Given the description of an element on the screen output the (x, y) to click on. 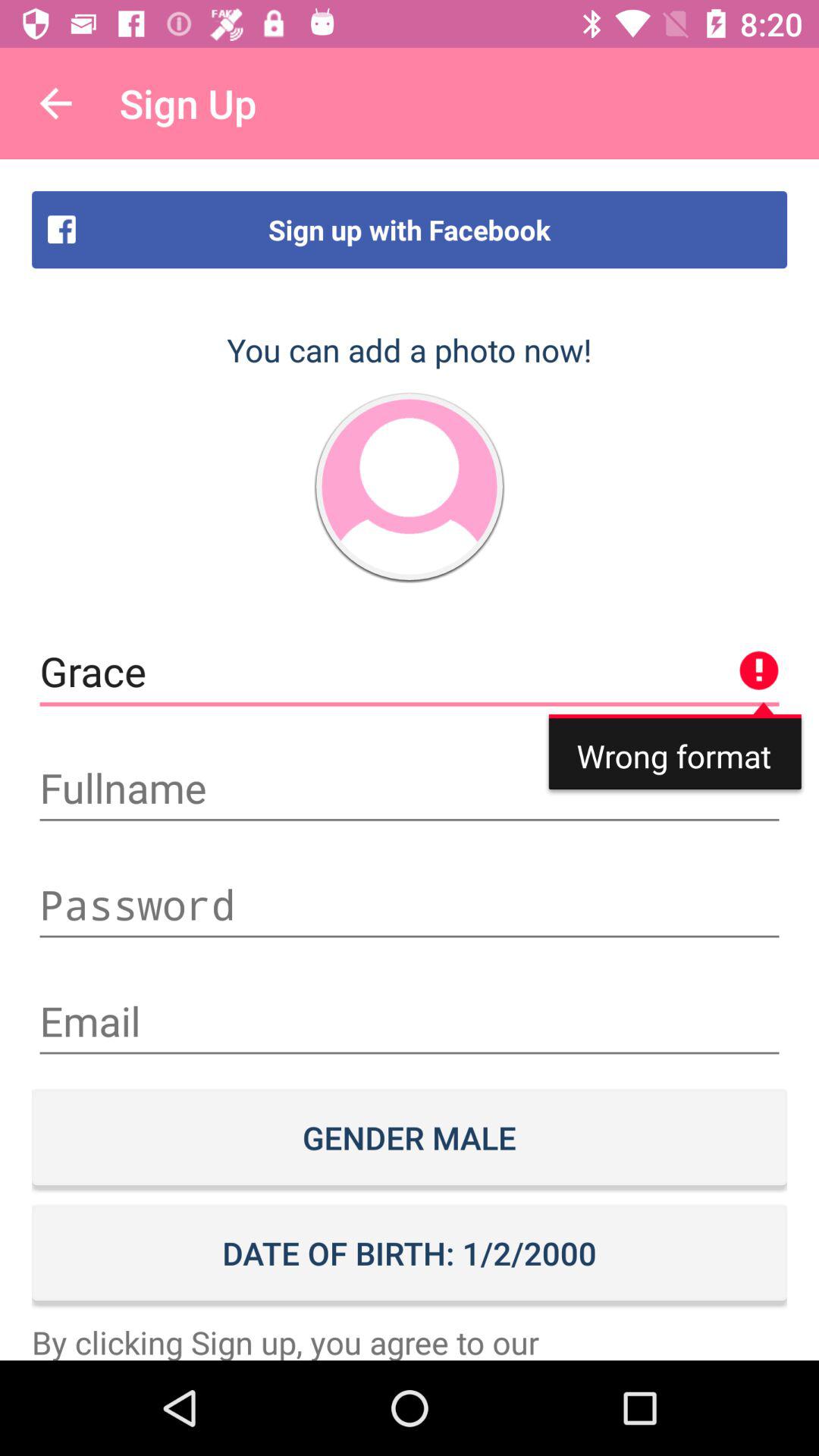
fill email id (409, 1021)
